Given the description of an element on the screen output the (x, y) to click on. 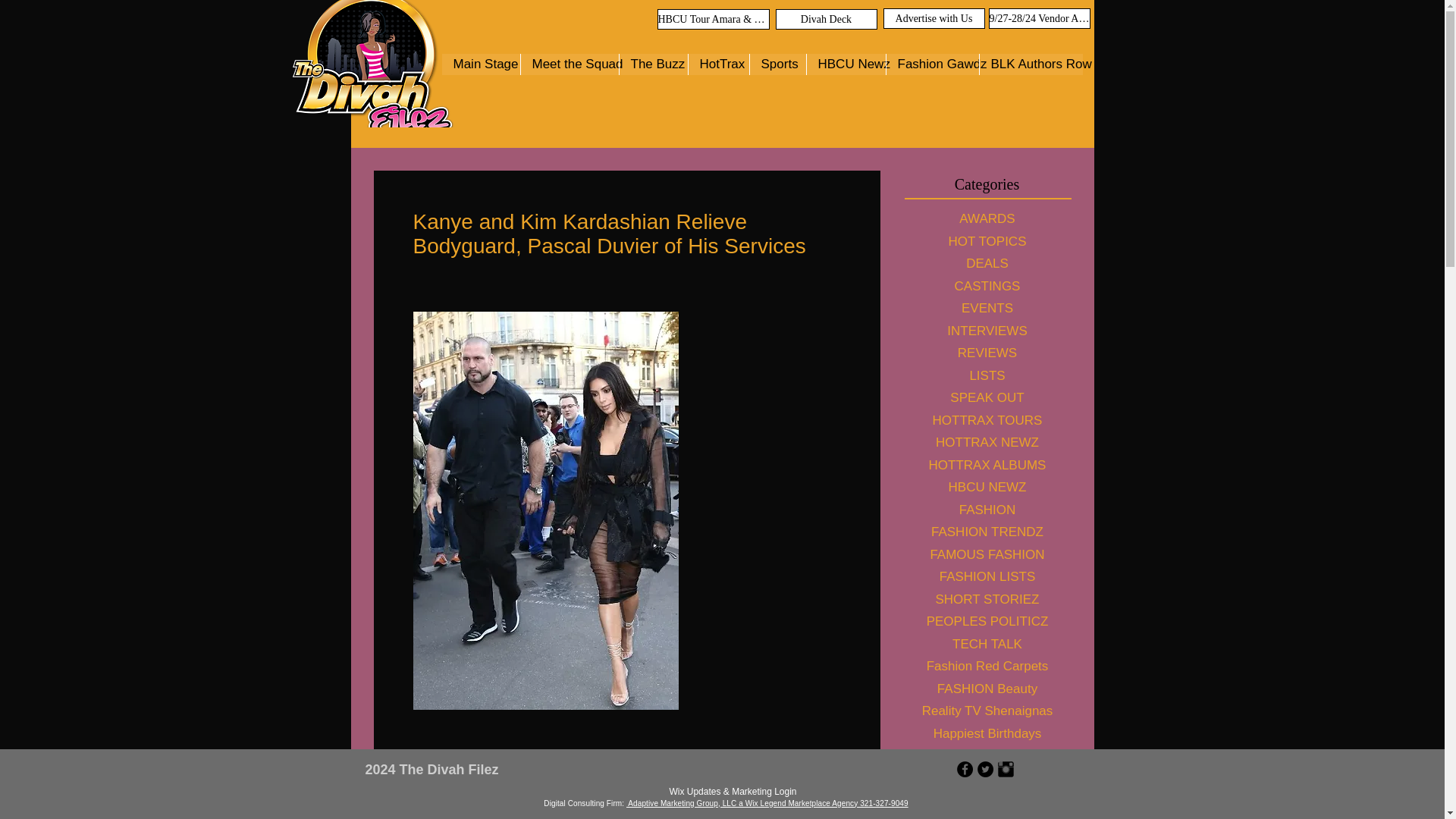
HotTrax (717, 64)
LISTS (986, 374)
HOTTRAX ALBUMS (986, 464)
The Buzz (652, 64)
Meet the Squad (568, 64)
BLK Authors Row (1029, 64)
Advertise with Us (933, 18)
Fashion Gawdz (931, 64)
DEALS (986, 263)
HOT TOPICS (986, 241)
CASTINGS (986, 285)
EVENTS (986, 308)
Divah Deck (825, 19)
REVIEWS (986, 353)
FASHION (986, 509)
